Given the description of an element on the screen output the (x, y) to click on. 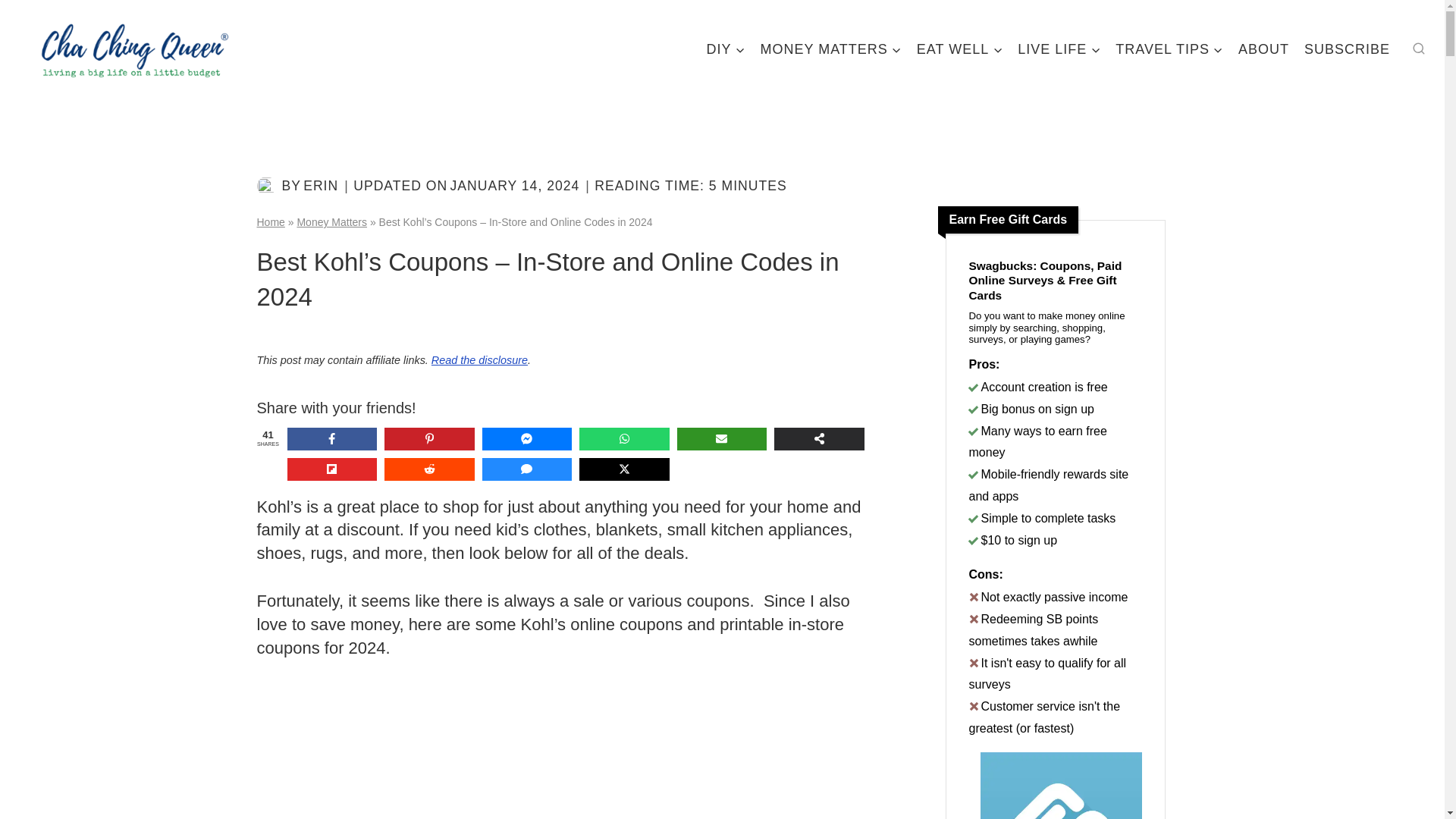
ERIN (319, 185)
TRAVEL TIPS (1169, 48)
DIY (725, 48)
SUBSCRIBE (1347, 48)
LIVE LIFE (1059, 48)
EAT WELL (959, 48)
ABOUT (1263, 48)
MONEY MATTERS (830, 48)
